Given the description of an element on the screen output the (x, y) to click on. 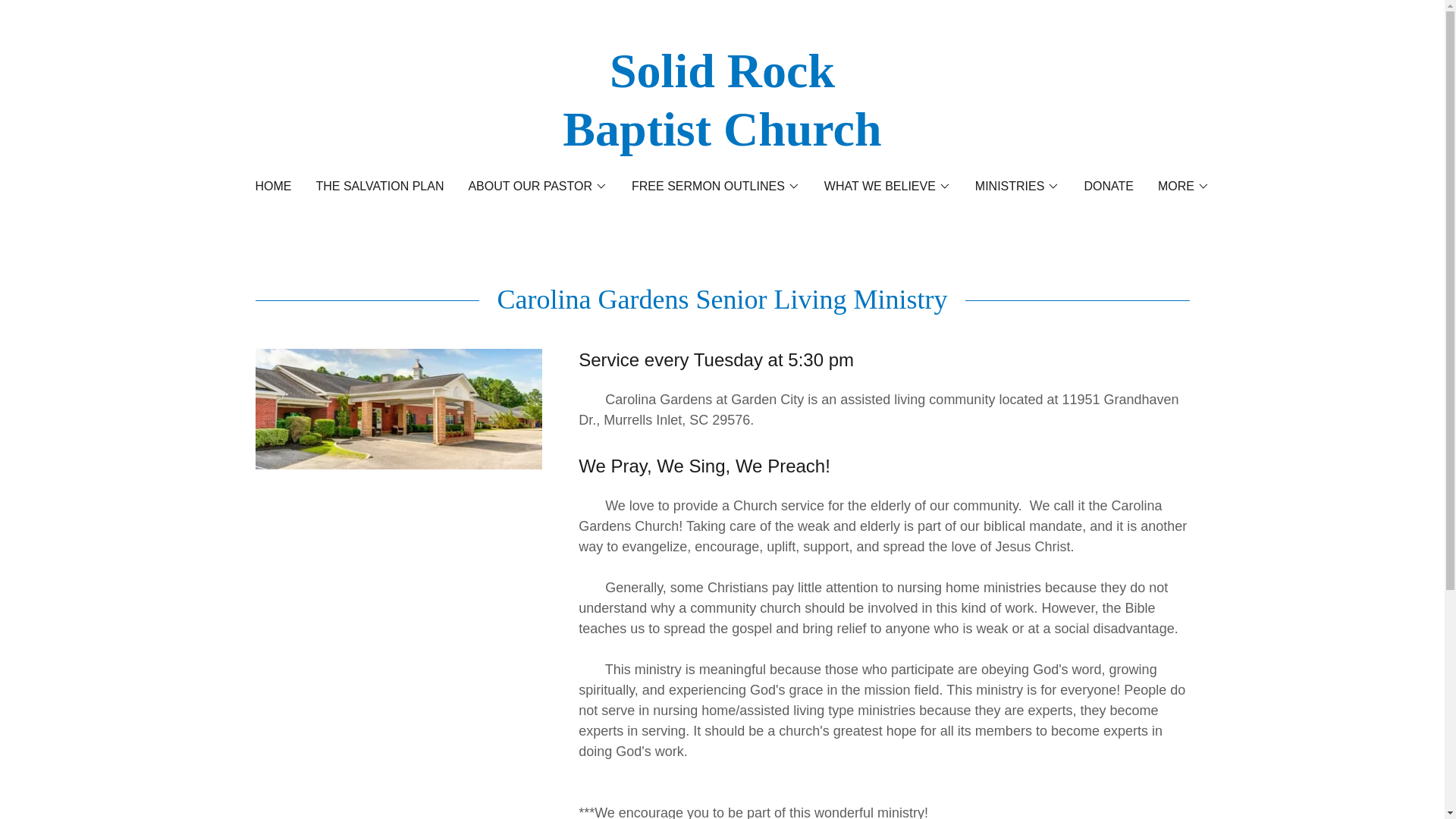
THE SALVATION PLAN (379, 185)
HOME (272, 185)
MINISTRIES (1017, 186)
Solid Rock Baptist Church (721, 140)
Solid Rock Baptist Church (721, 140)
ABOUT OUR PASTOR (537, 186)
DONATE (1107, 185)
FREE SERMON OUTLINES (715, 186)
MORE (1183, 186)
WHAT WE BELIEVE (887, 186)
